Given the description of an element on the screen output the (x, y) to click on. 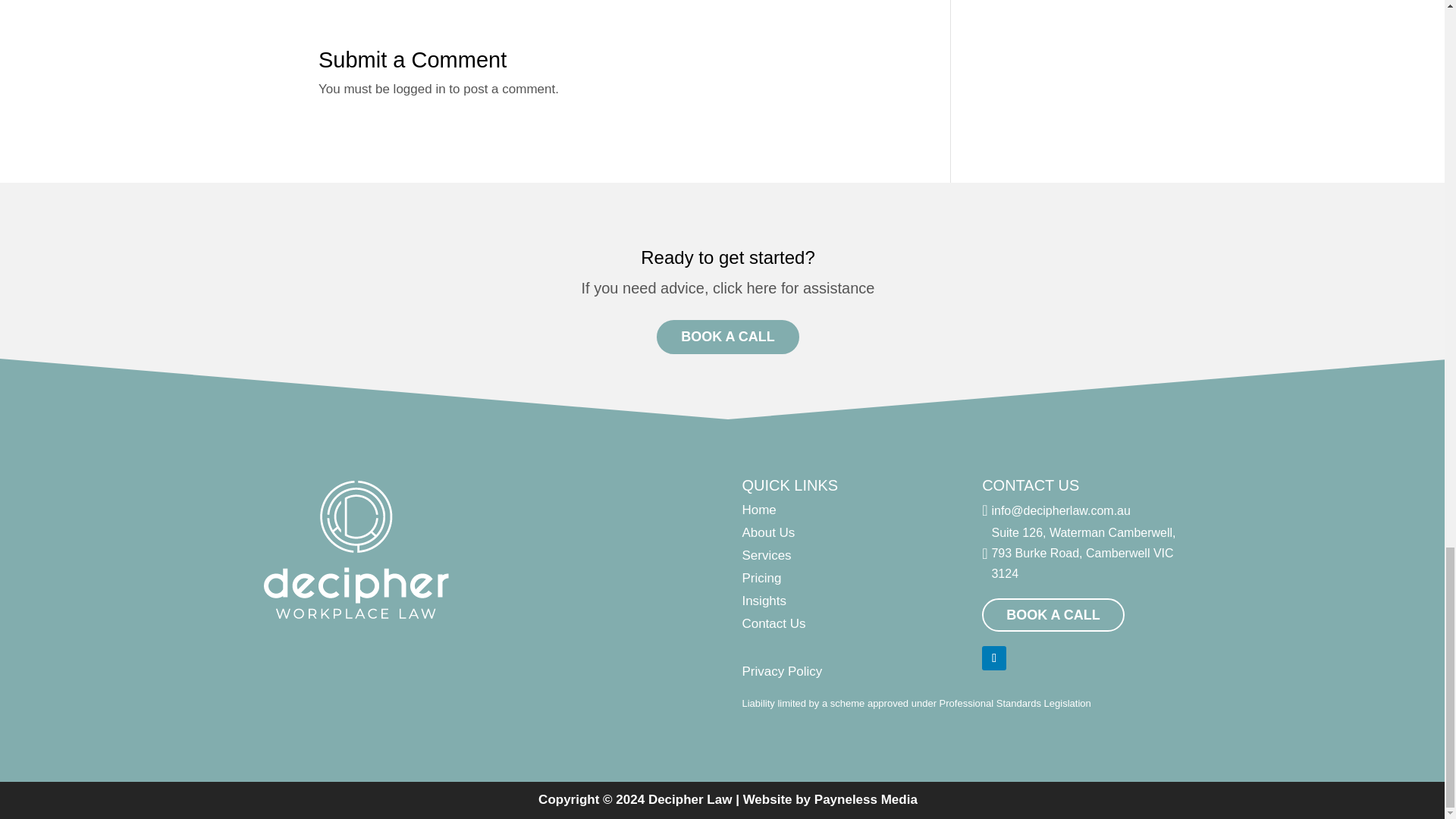
Insights (763, 600)
Pricing (760, 577)
Services (765, 554)
BOOK A CALL (727, 336)
Follow on LinkedIn (993, 658)
Home (758, 509)
About Us (767, 532)
Contact Us (773, 623)
